Given the description of an element on the screen output the (x, y) to click on. 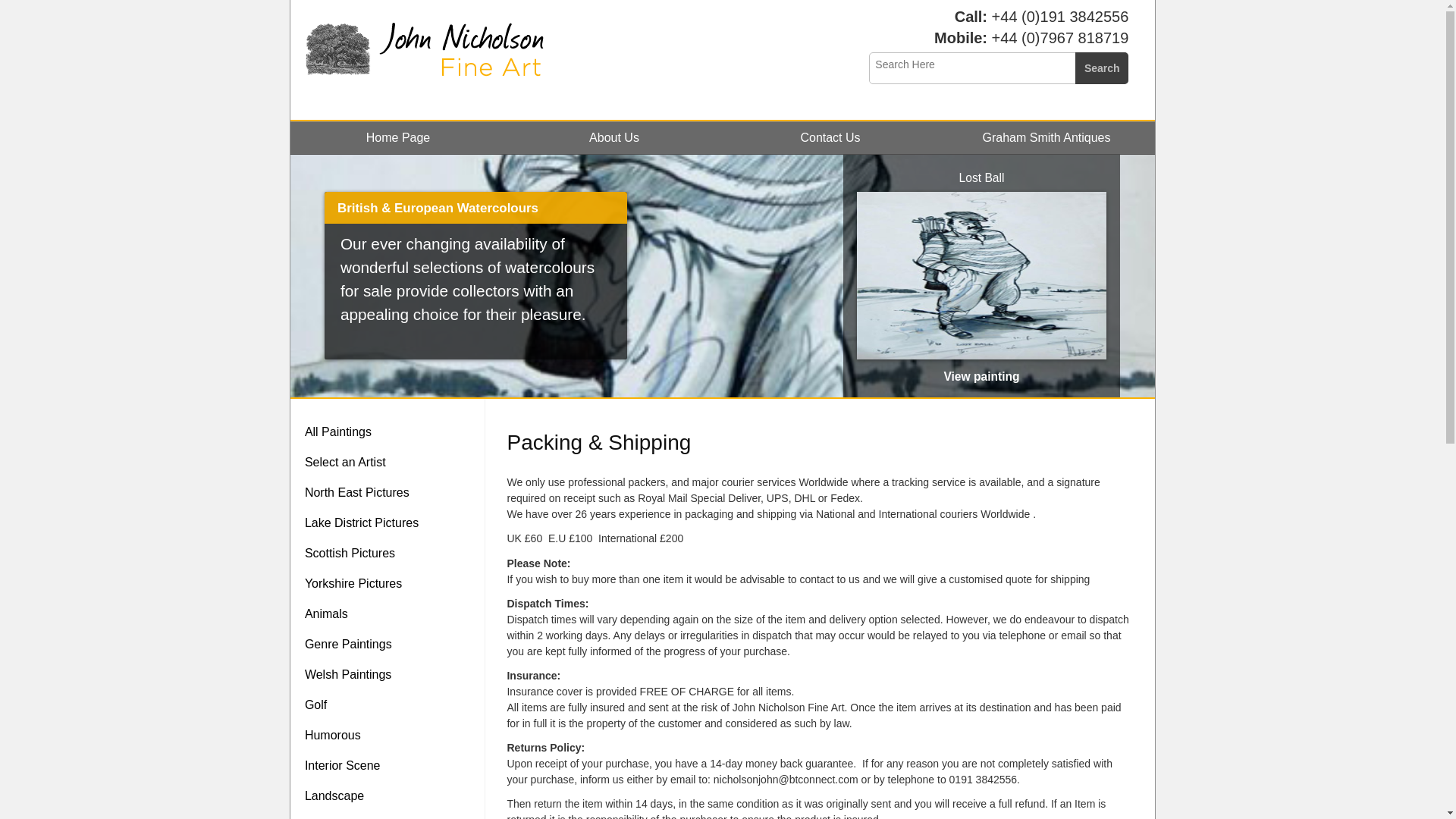
Contact Us (829, 137)
Graham Smith Antiques (1046, 137)
About Us (614, 137)
Scottish Pictures (391, 553)
Marine and Coastal (391, 815)
Animals (391, 613)
Welsh Paintings (391, 675)
Golf (391, 705)
All Paintings (391, 431)
Home Page (397, 137)
Genre Paintings (391, 644)
Yorkshire Pictures (391, 583)
Interior Scene (391, 766)
Humorous (391, 735)
Select an Artist (391, 462)
